Given the description of an element on the screen output the (x, y) to click on. 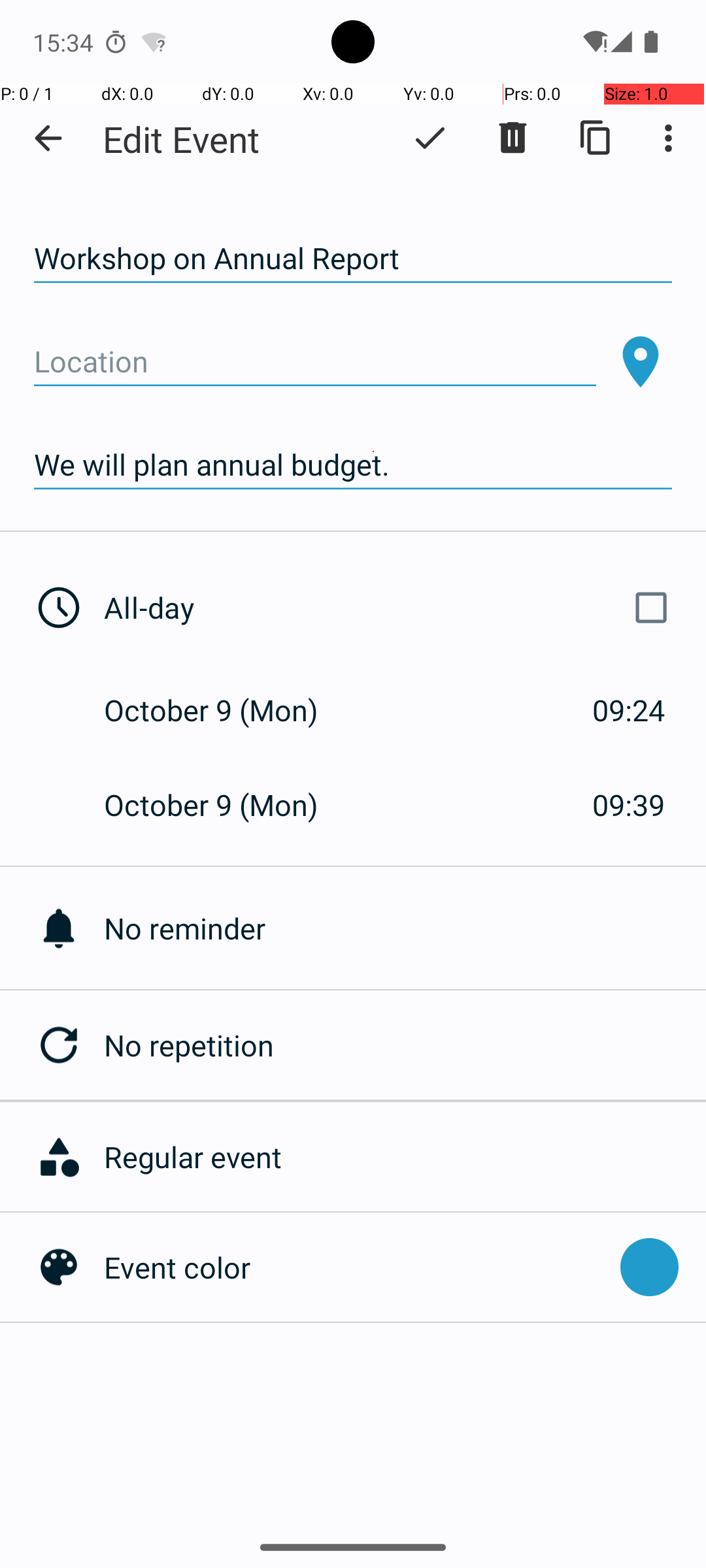
Workshop on Annual Report Element type: android.widget.EditText (352, 258)
We will plan annual budget. Element type: android.widget.EditText (352, 465)
October 9 (Mon) Element type: android.widget.TextView (224, 709)
09:24 Element type: android.widget.TextView (628, 709)
09:39 Element type: android.widget.TextView (628, 804)
